Given the description of an element on the screen output the (x, y) to click on. 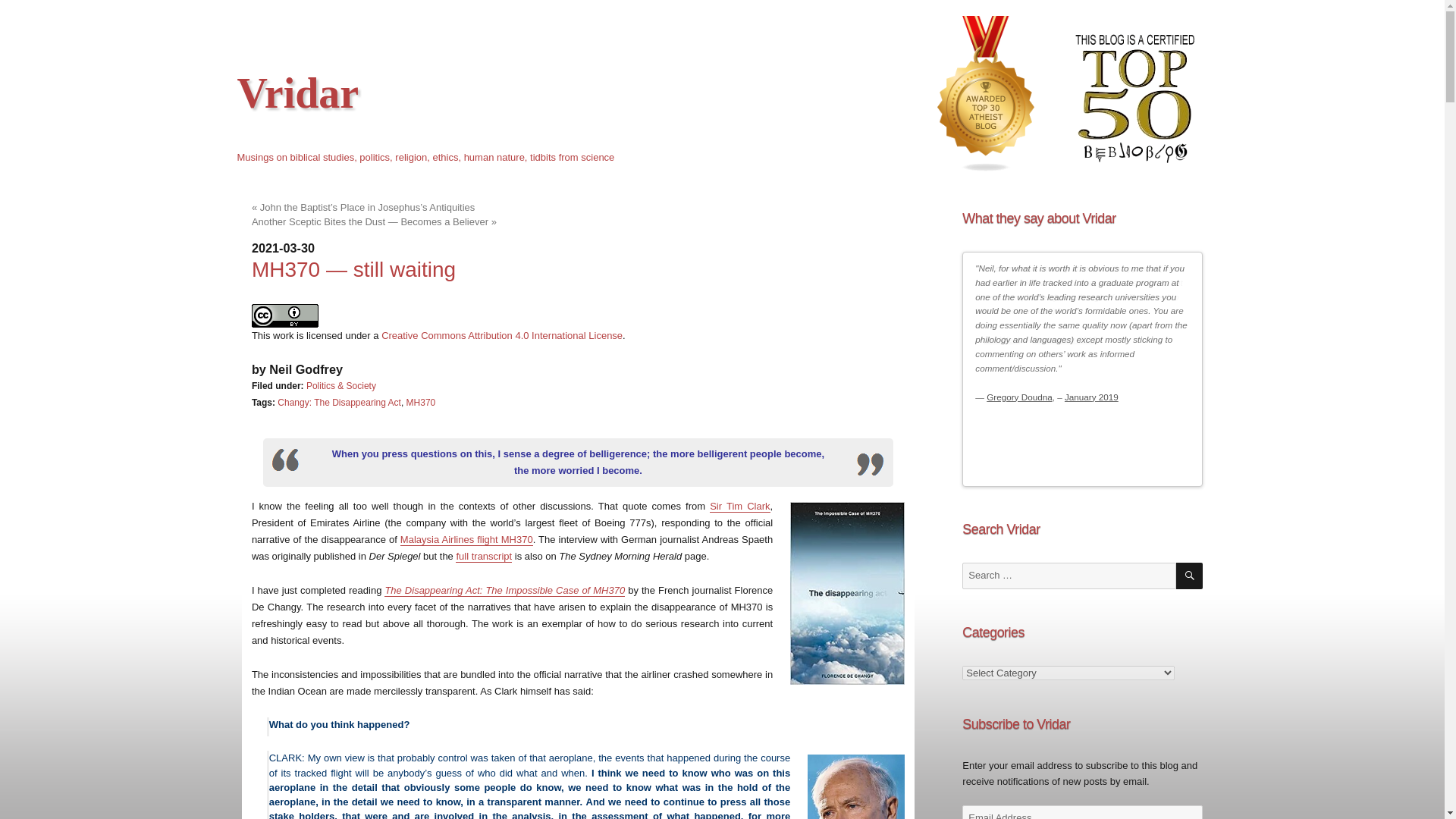
full transcript (483, 555)
Creative Commons Attribution 4.0 International License (502, 335)
Malaysia Airlines flight MH370 (466, 539)
MH370 (420, 402)
The Disappearing Act: The Impossible Case of MH370 (504, 590)
Vridar (296, 93)
Sir Tim Clark (740, 505)
Changy: The Disappearing Act (339, 402)
